Given the description of an element on the screen output the (x, y) to click on. 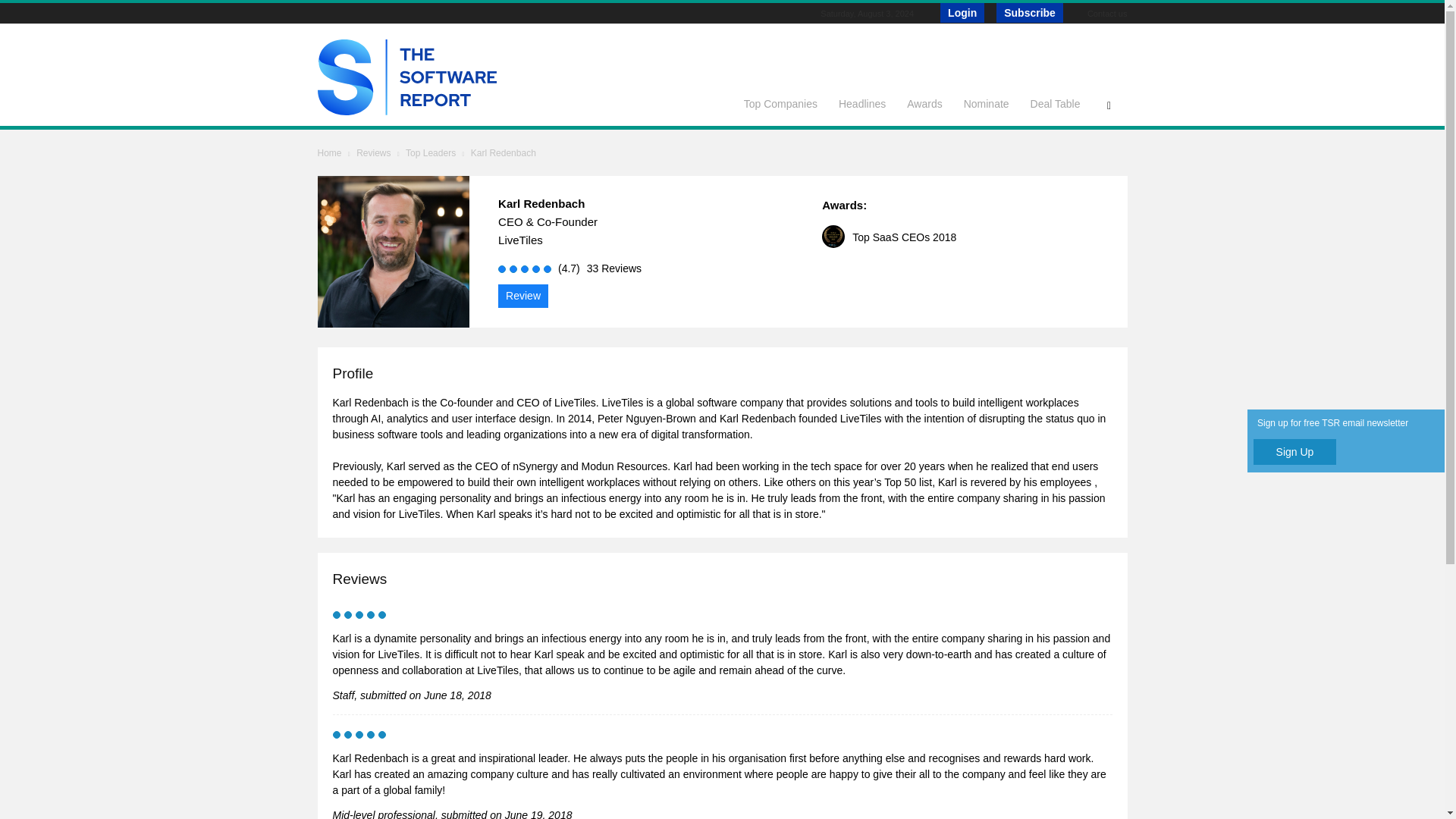
Deal Table (1055, 103)
Reviews (373, 153)
Awards (924, 103)
The Software Report (406, 111)
Top Companies (780, 103)
Review (522, 295)
Headlines (862, 103)
Home (328, 153)
Subscribe (1028, 12)
Top Leaders (430, 153)
Login (962, 12)
Contact us (1106, 13)
Nominate (986, 103)
Sign Up (1294, 451)
